Given the description of an element on the screen output the (x, y) to click on. 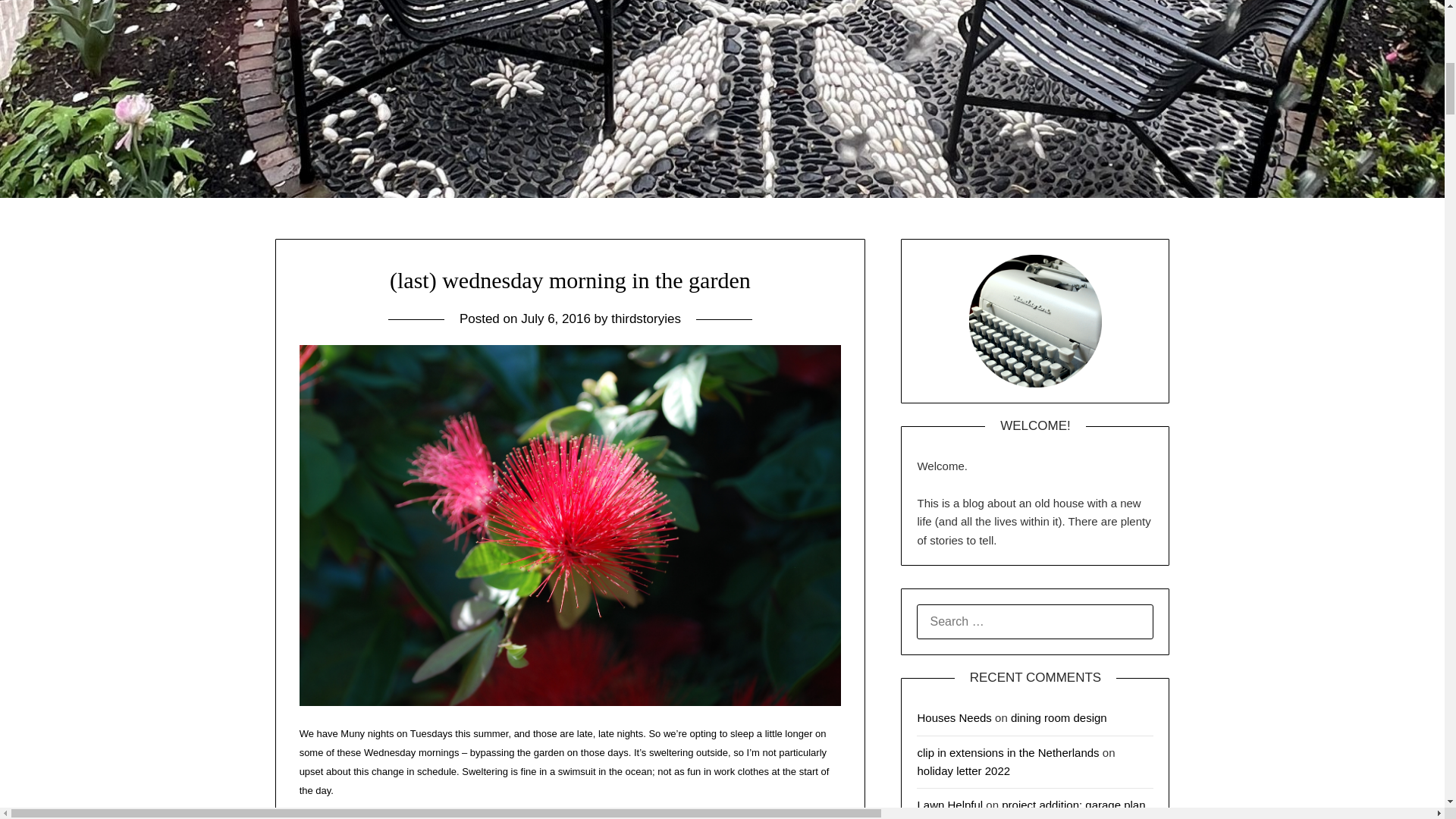
July 6, 2016 (556, 318)
thirdstoryies (646, 318)
